Given the description of an element on the screen output the (x, y) to click on. 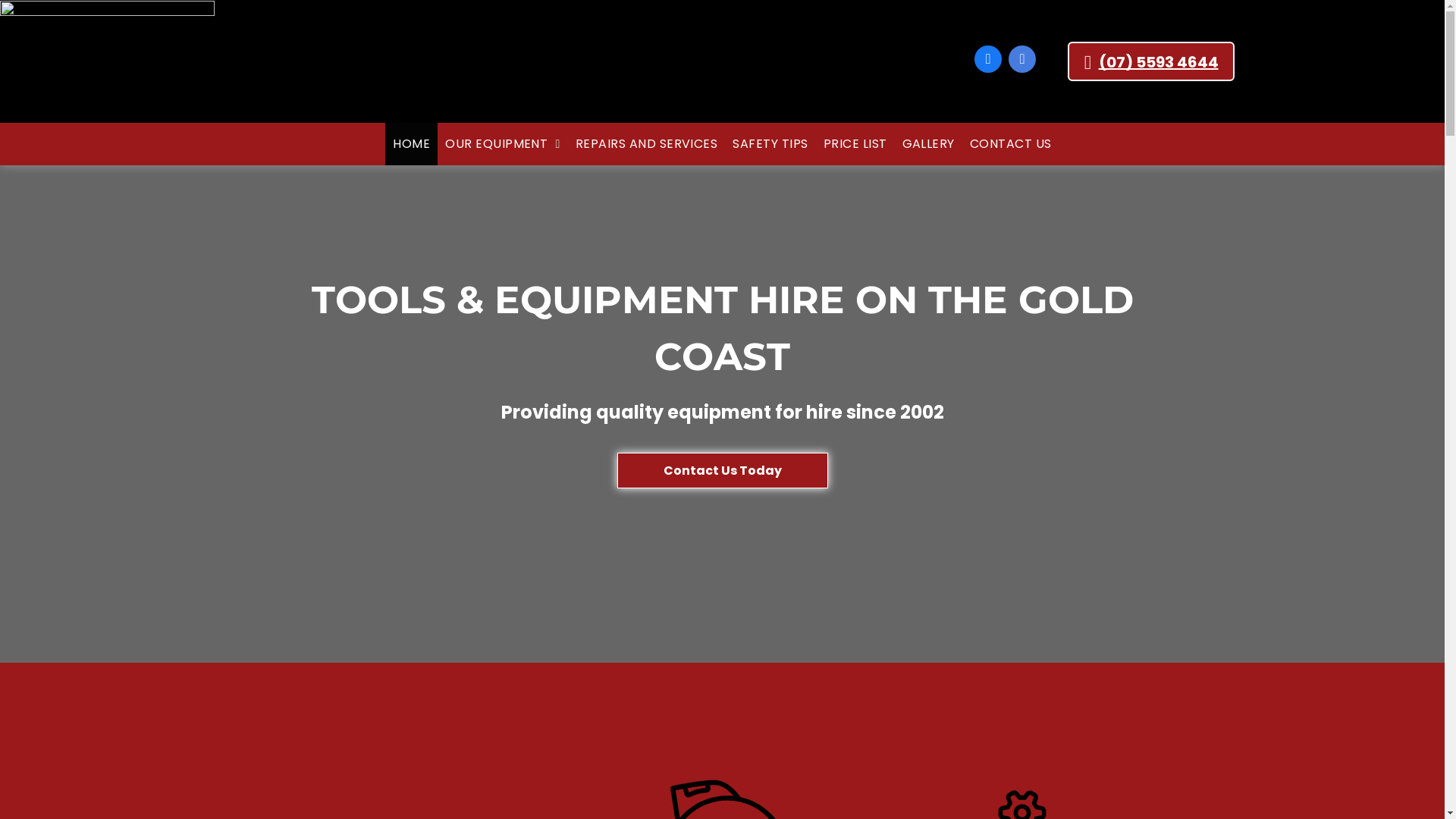
OUR EQUIPMENT Element type: text (502, 143)
CONTACT US Element type: text (1010, 143)
HOME Element type: text (411, 143)
(07) 5593 4644 Element type: text (1150, 61)
Contact Us Today Element type: text (722, 470)
PRICE LIST Element type: text (854, 143)
SAFETY TIPS Element type: text (769, 143)
REPAIRS AND SERVICES Element type: text (646, 143)
GALLERY Element type: text (928, 143)
